Given the description of an element on the screen output the (x, y) to click on. 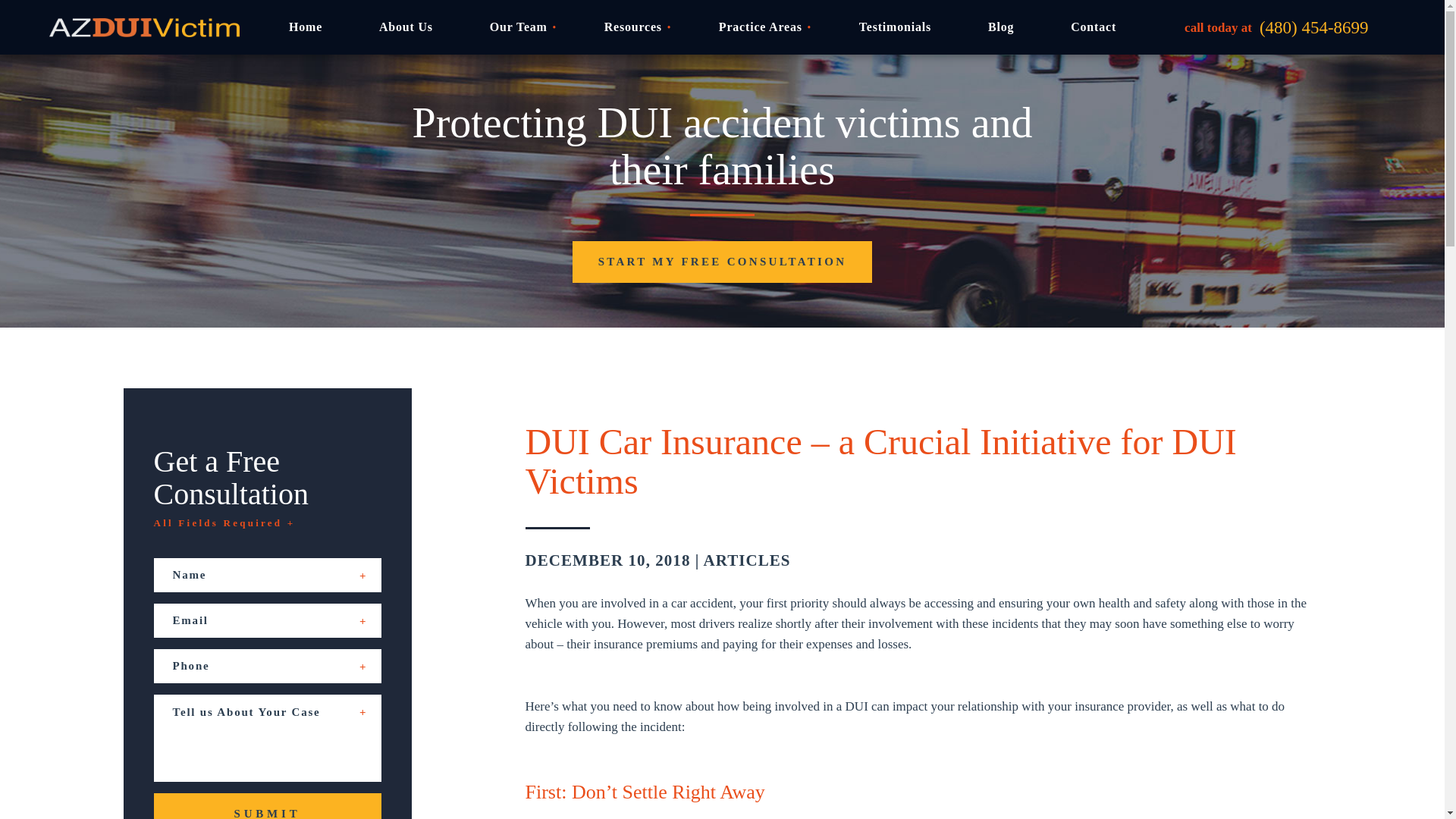
Contact (1093, 27)
Submit (266, 806)
Testimonials (895, 27)
Practice Areas (760, 27)
About Us (405, 27)
Resources (633, 27)
Blog (1000, 27)
START MY FREE CONSULTATION (722, 261)
ARTICLES (746, 560)
Home (304, 27)
Our Team (518, 27)
Submit (266, 806)
